Given the description of an element on the screen output the (x, y) to click on. 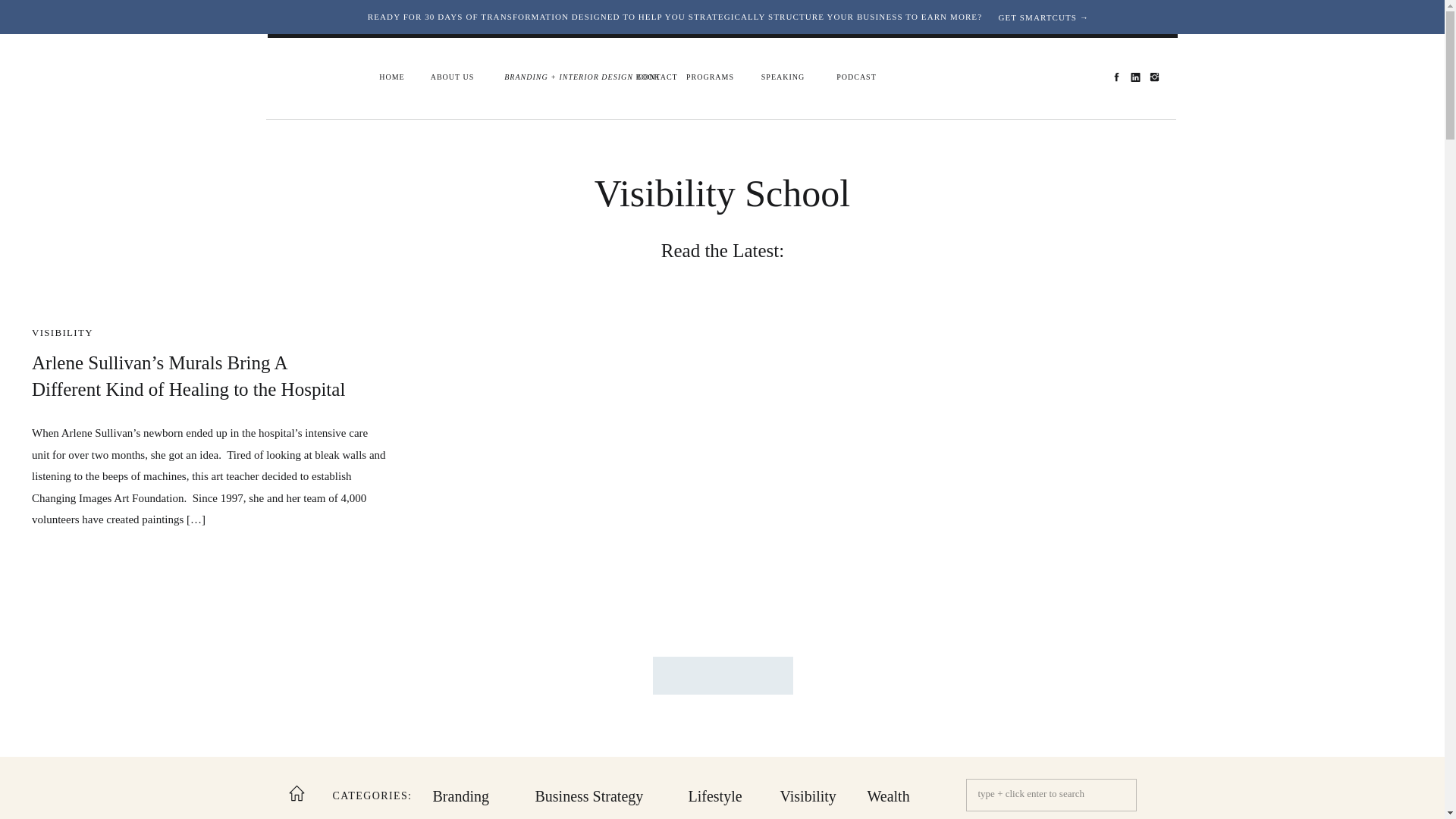
CONTACT (656, 77)
SPEAKING (782, 77)
ABOUT US (451, 77)
PODCAST (856, 77)
HOME (392, 77)
PROGRAMS (709, 77)
